Given the description of an element on the screen output the (x, y) to click on. 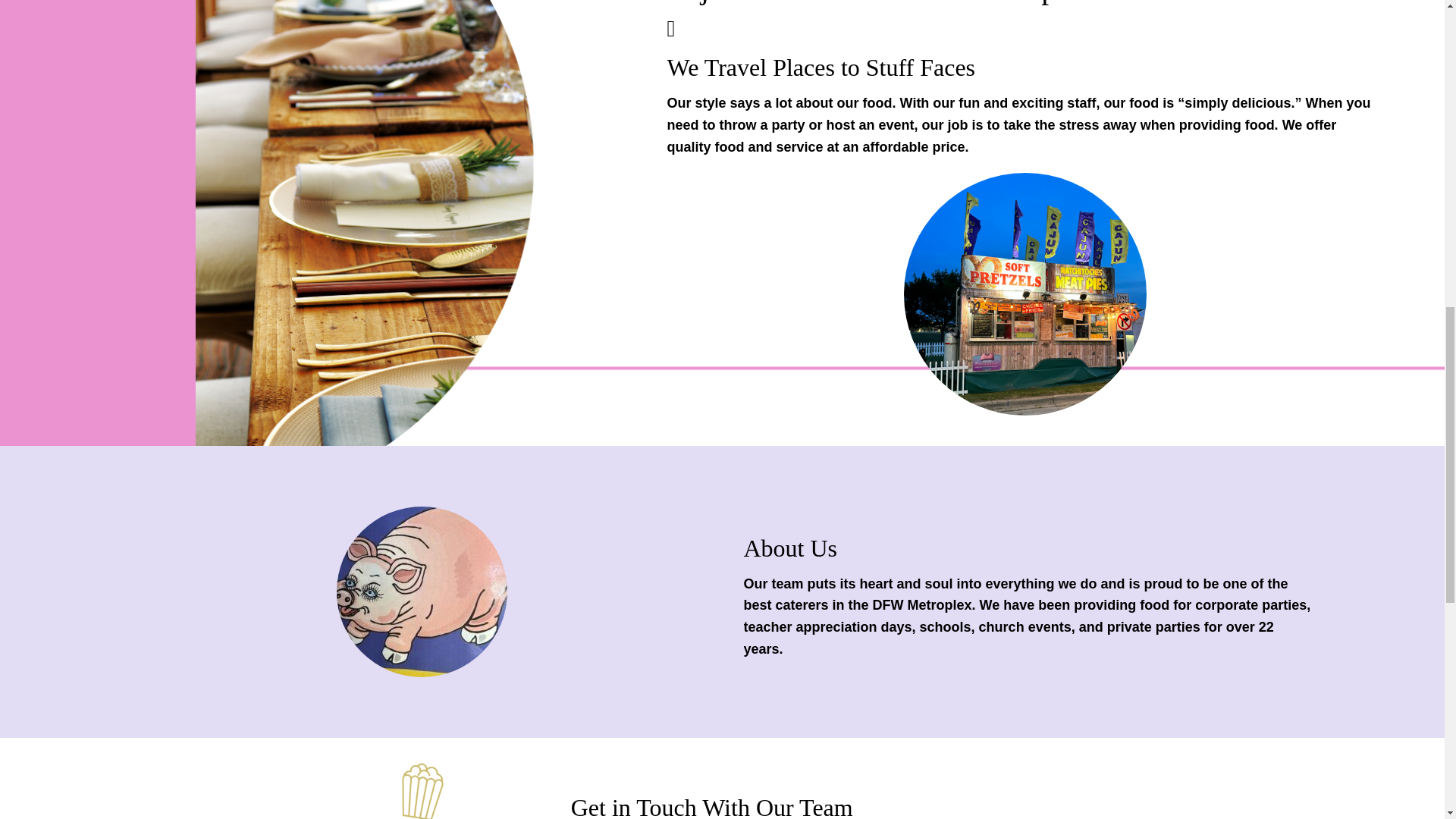
5BC9CBCA-31E9-43DD-AA60-64C2FA901AAD (421, 591)
Untitled design - 2023-02-08T115822.900 (423, 789)
Updated Trailer (1025, 293)
